Given the description of an element on the screen output the (x, y) to click on. 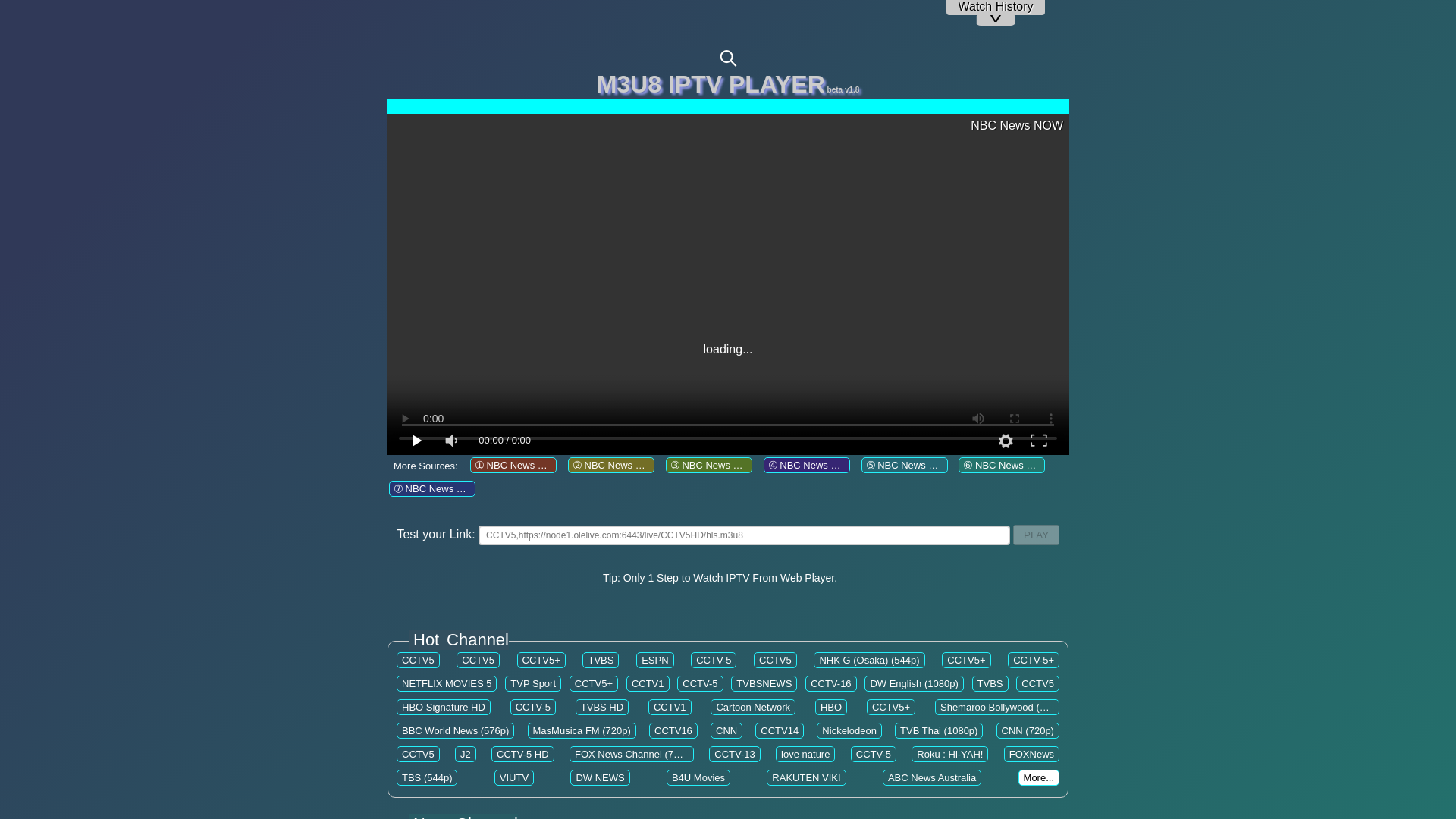
TVBS (600, 659)
CCTV5 (775, 659)
ESPN (655, 659)
CCTV-5 (712, 659)
Tip: Only 1 Step to Watch IPTV From Web Player. (719, 577)
CCTV5 (478, 659)
CCTV5 (417, 659)
 PLAY  (1035, 534)
CCTV-5 (699, 683)
NETFLIX MOVIES 5 (446, 683)
 PLAY  (1035, 534)
CCTV1 (647, 683)
TVP Sport (533, 683)
Advertisement (727, 236)
